Given the description of an element on the screen output the (x, y) to click on. 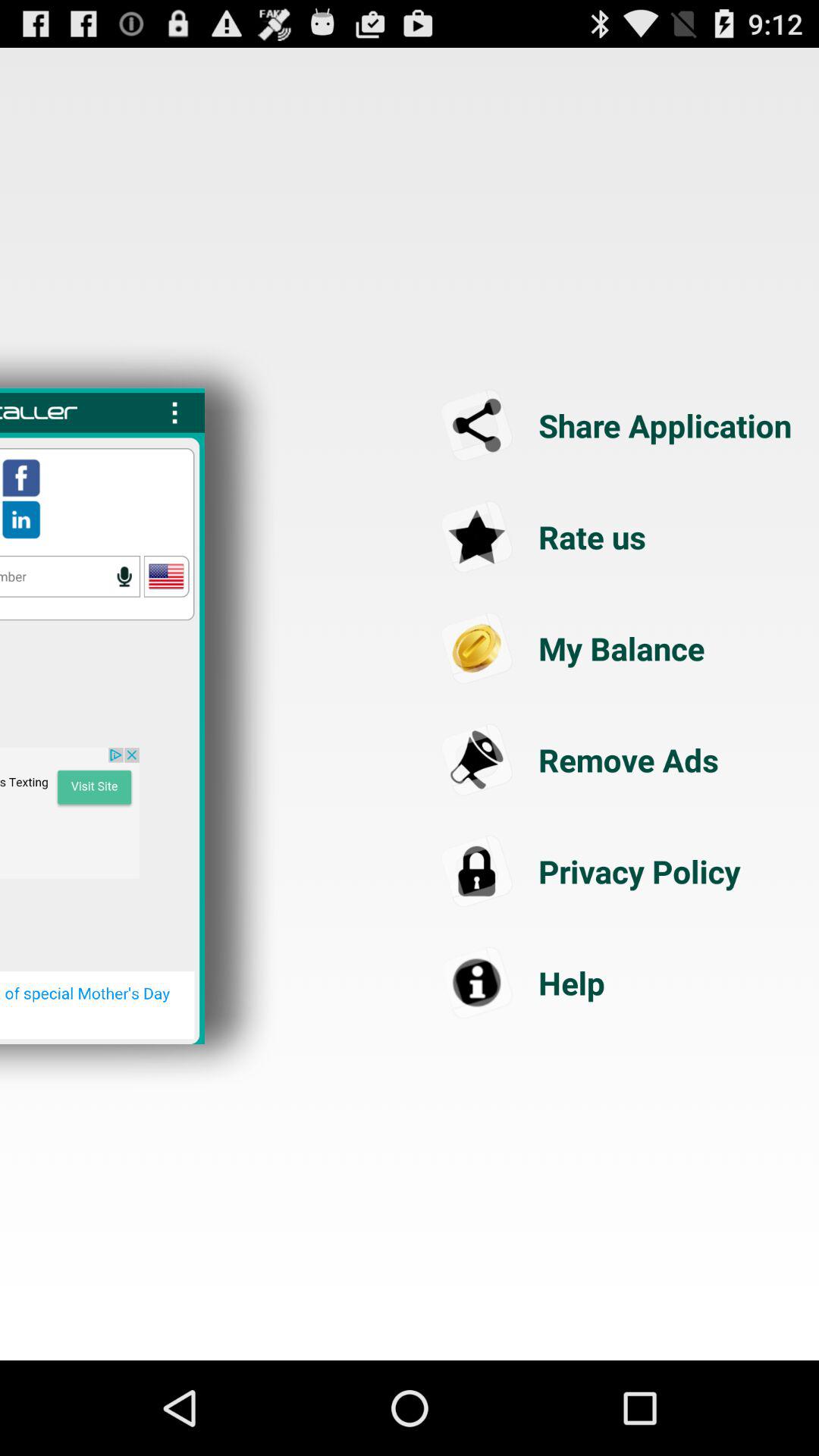
go to linkedin (21, 519)
